Given the description of an element on the screen output the (x, y) to click on. 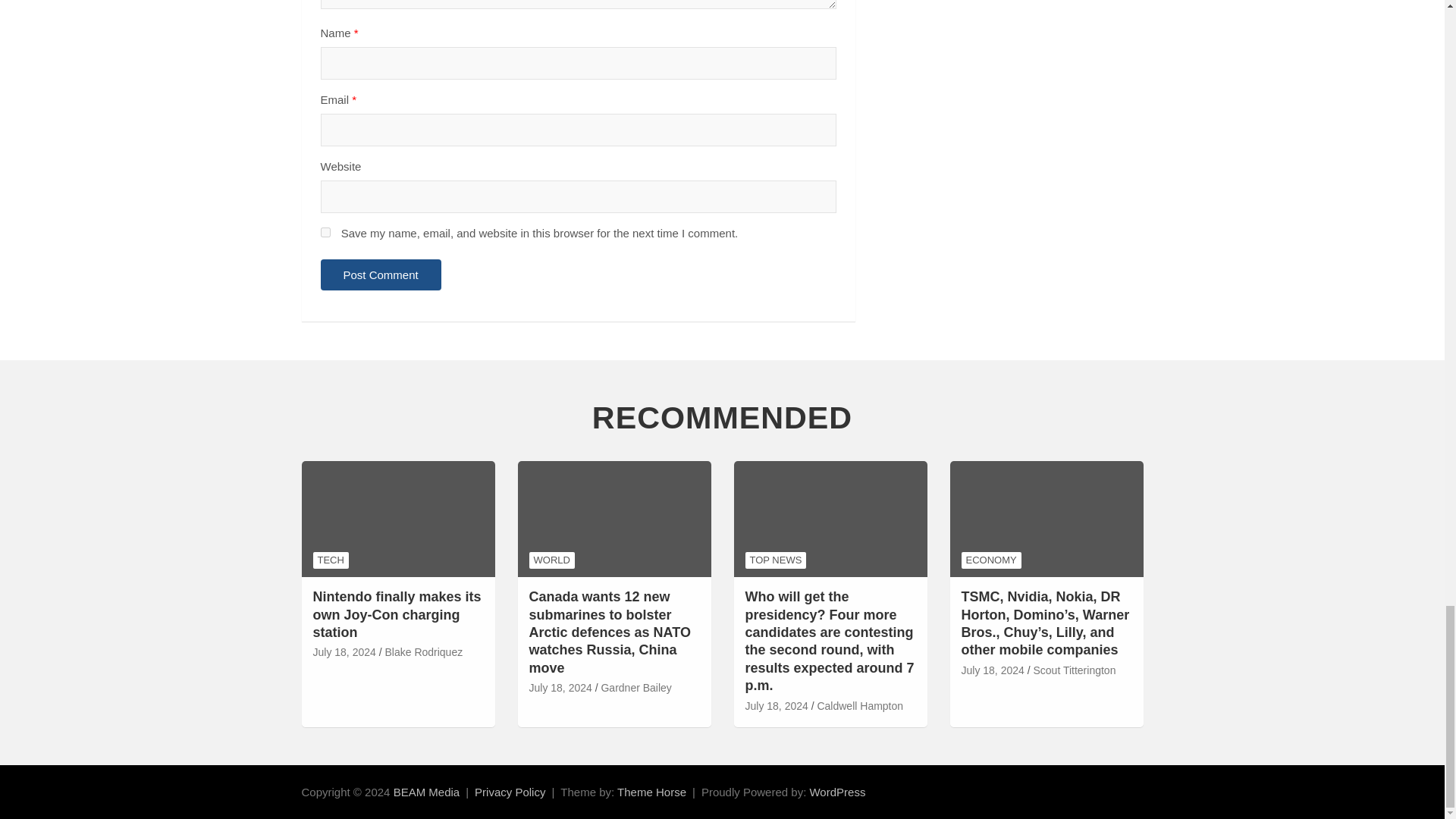
Nintendo finally makes its own Joy-Con charging station (344, 652)
Theme Horse (651, 791)
yes (325, 232)
WordPress (836, 791)
Post Comment (380, 274)
BEAM Media (426, 791)
